Given the description of an element on the screen output the (x, y) to click on. 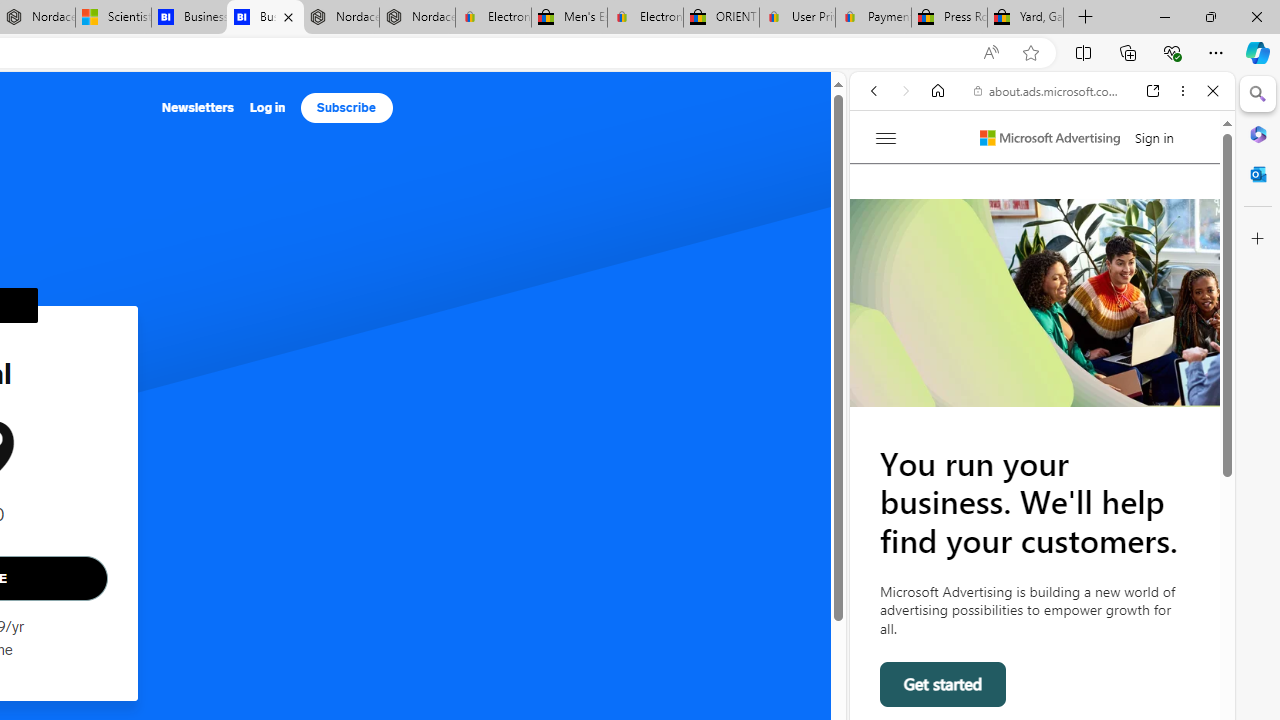
Log in (267, 107)
Minimize Search pane (1258, 94)
